Given the description of an element on the screen output the (x, y) to click on. 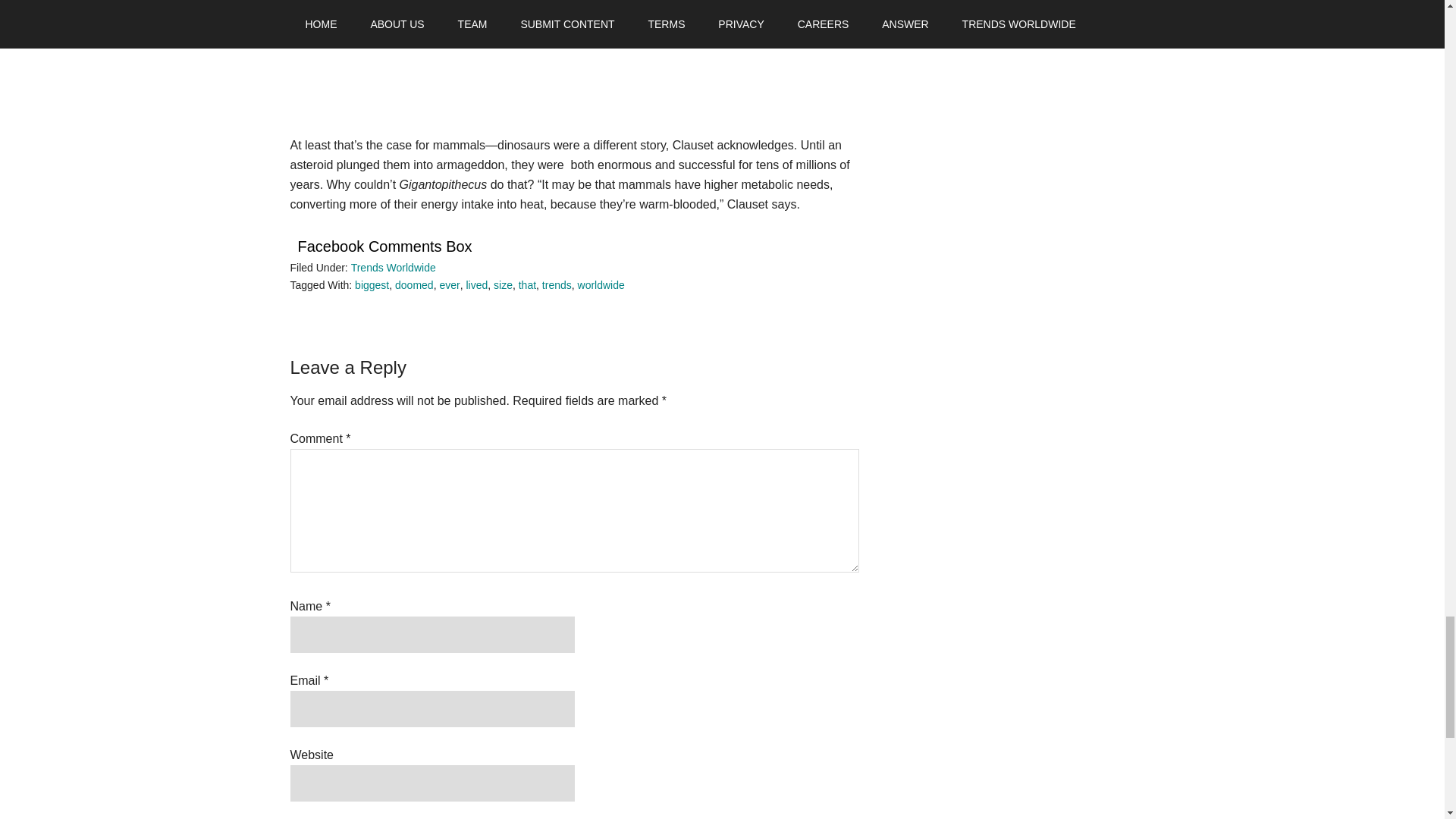
worldwide (601, 285)
that (526, 285)
size (502, 285)
ever (449, 285)
biggest (371, 285)
trends (556, 285)
Trends Worldwide (392, 267)
lived (476, 285)
doomed (413, 285)
